Given the description of an element on the screen output the (x, y) to click on. 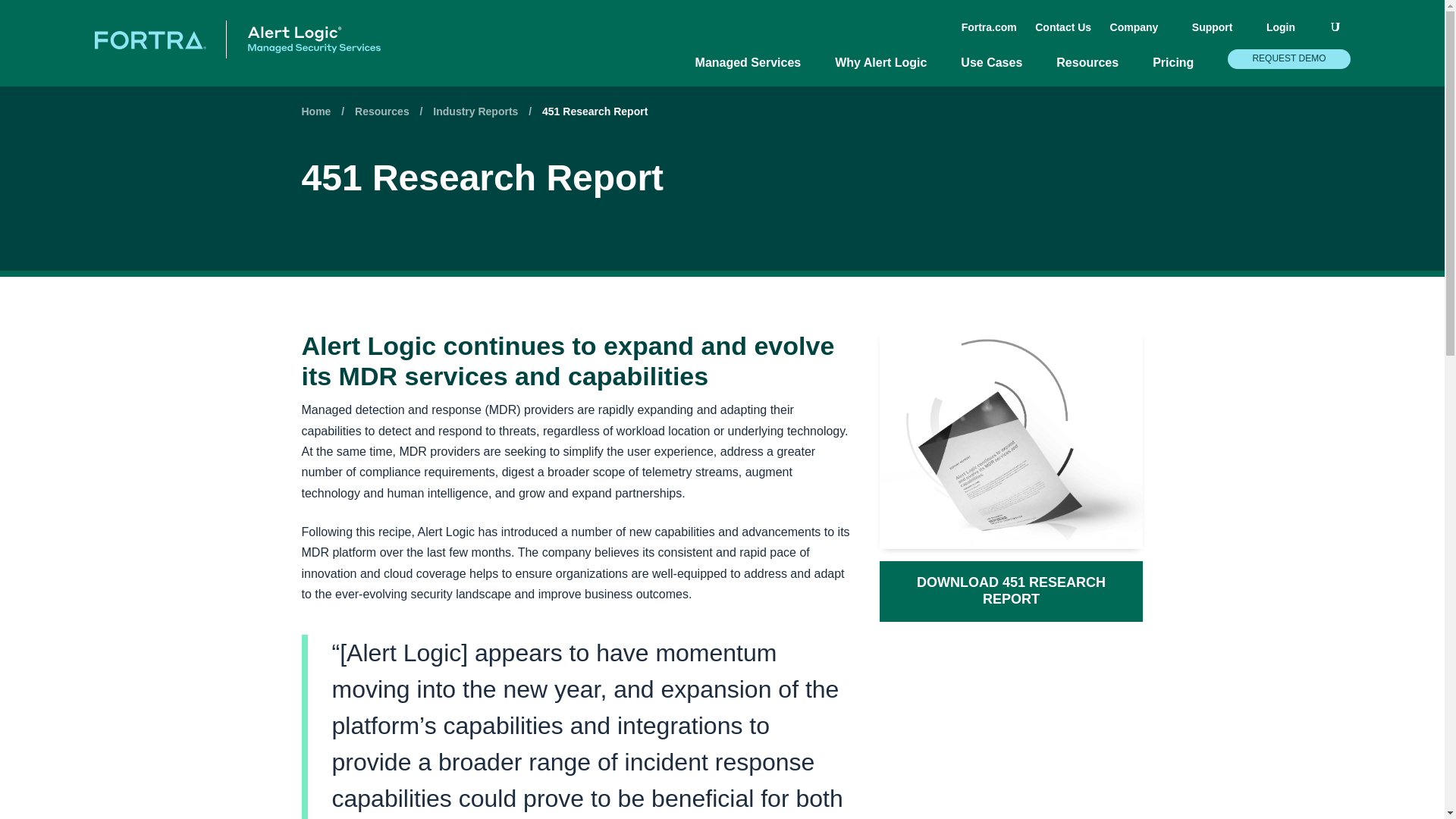
Managed Services (755, 69)
Why Alert Logic (888, 69)
Company (1141, 32)
Company (1141, 32)
Support (1219, 32)
Contact Us (1062, 27)
Login (1288, 32)
Support (1219, 32)
Login (1288, 32)
Fortra.com (988, 27)
